Given the description of an element on the screen output the (x, y) to click on. 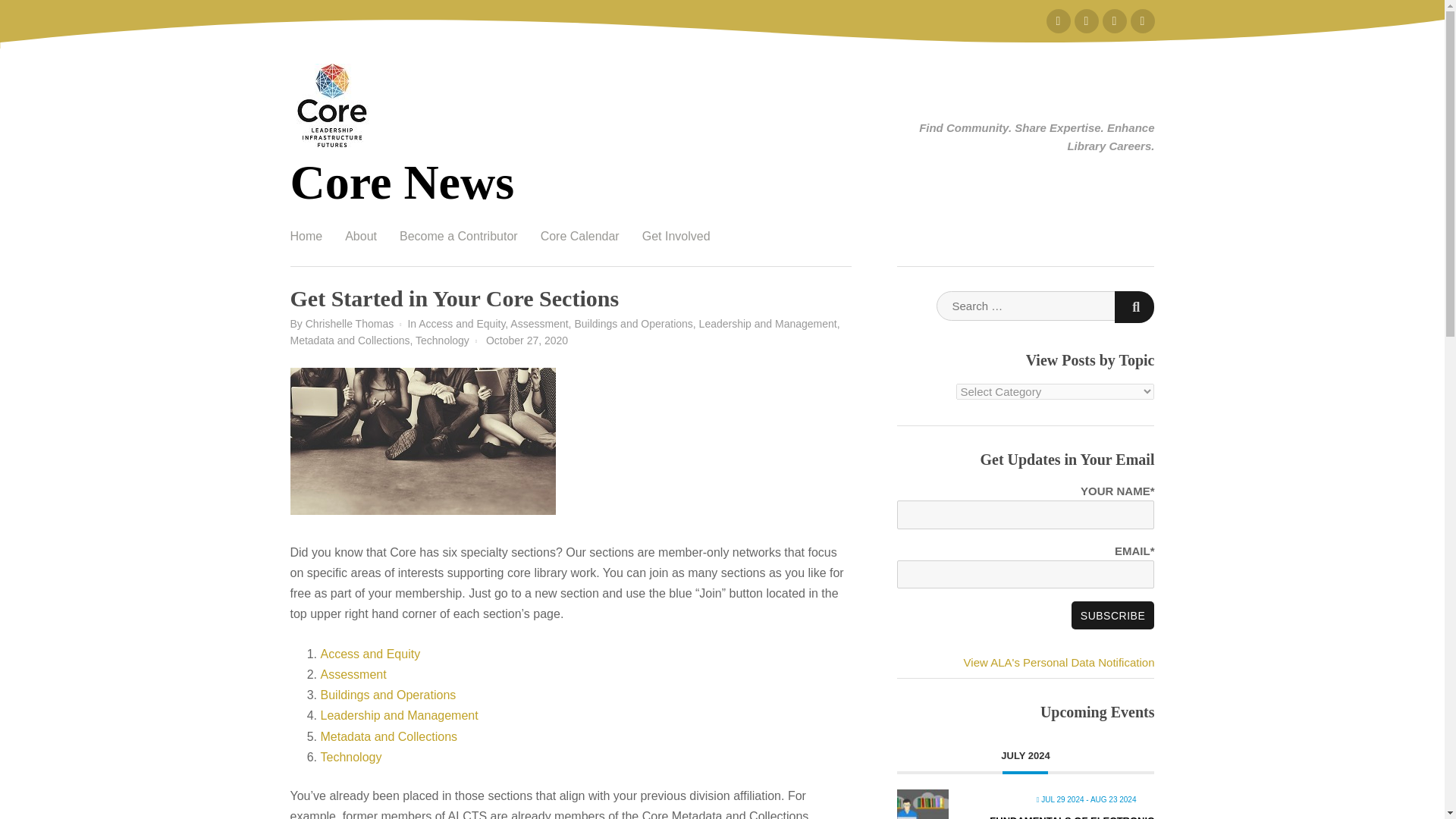
Buildings and Operations (387, 694)
Instagram (1085, 21)
Chrishelle Thomas (349, 323)
Technology (350, 757)
Subscribe (1112, 615)
Get Involved (676, 236)
Website (1141, 21)
Access and Equity (370, 653)
View ALA's Personal Data Notification (1058, 662)
Assessment (352, 674)
Subscribe (1112, 615)
About (360, 236)
Metadata and Collections (349, 340)
Twitter (1058, 21)
Technology (441, 340)
